Given the description of an element on the screen output the (x, y) to click on. 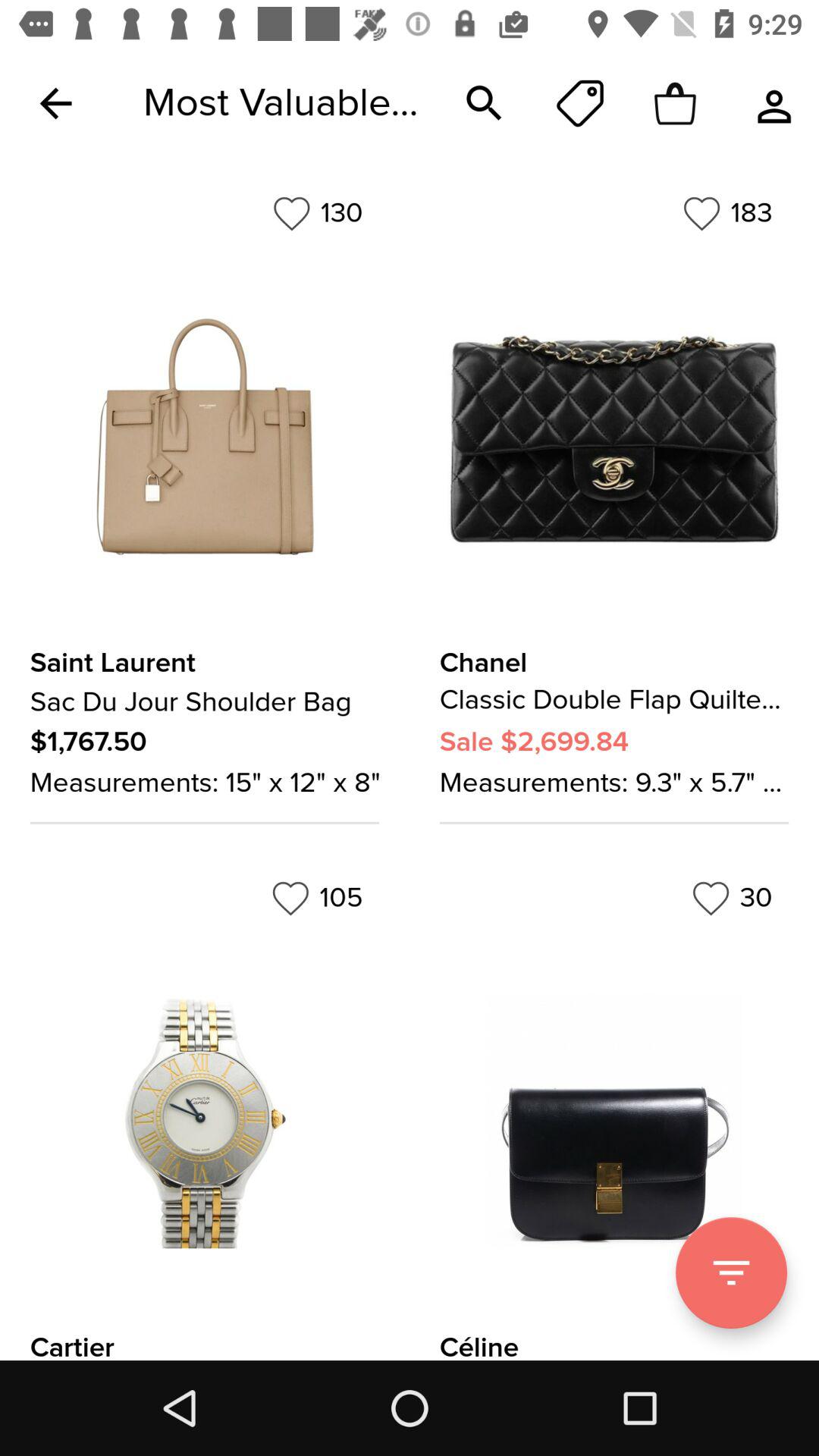
click the item below the most valuable investment item (317, 213)
